Given the description of an element on the screen output the (x, y) to click on. 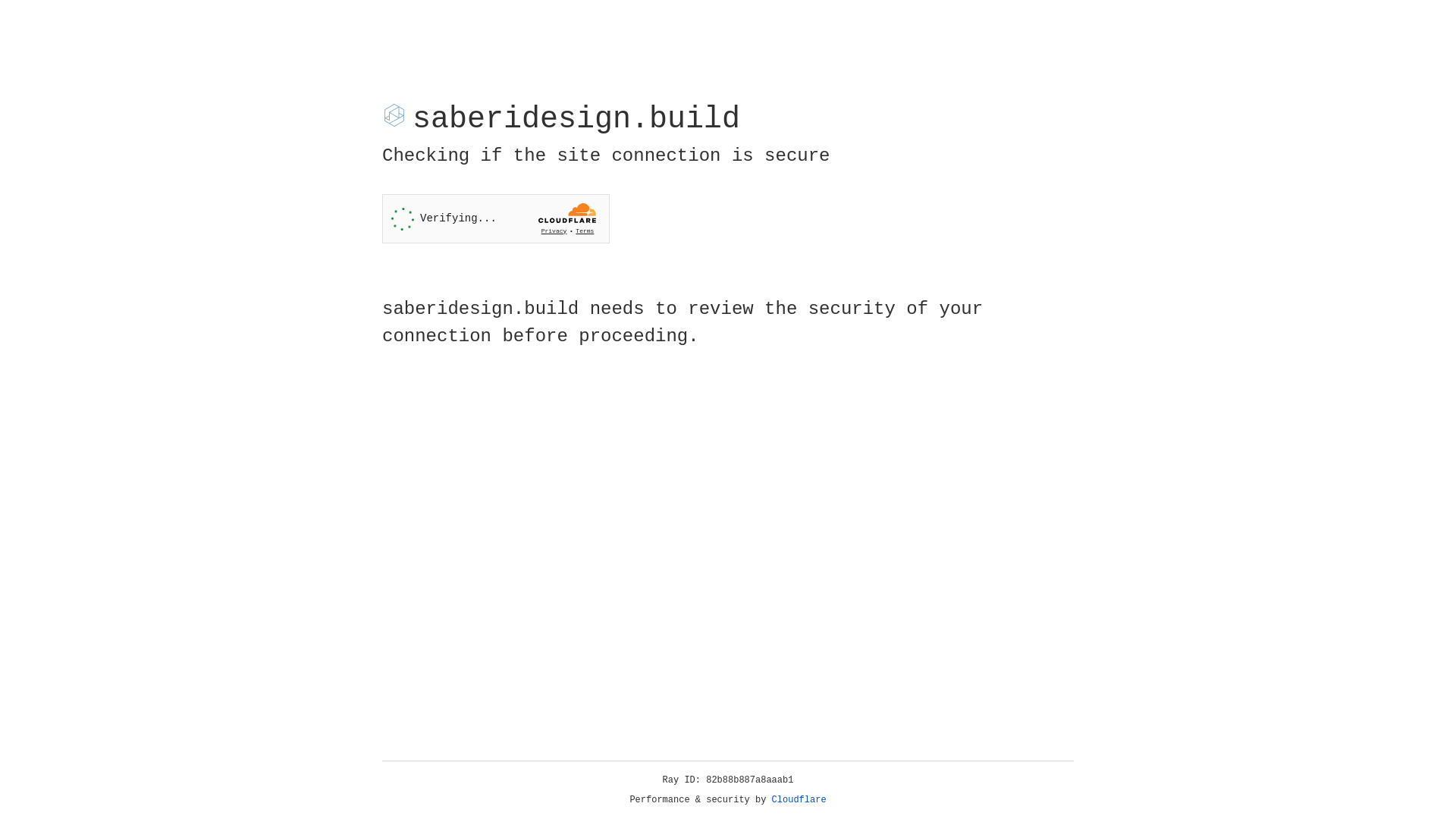
Cloudflare Element type: text (798, 799)
